Given the description of an element on the screen output the (x, y) to click on. 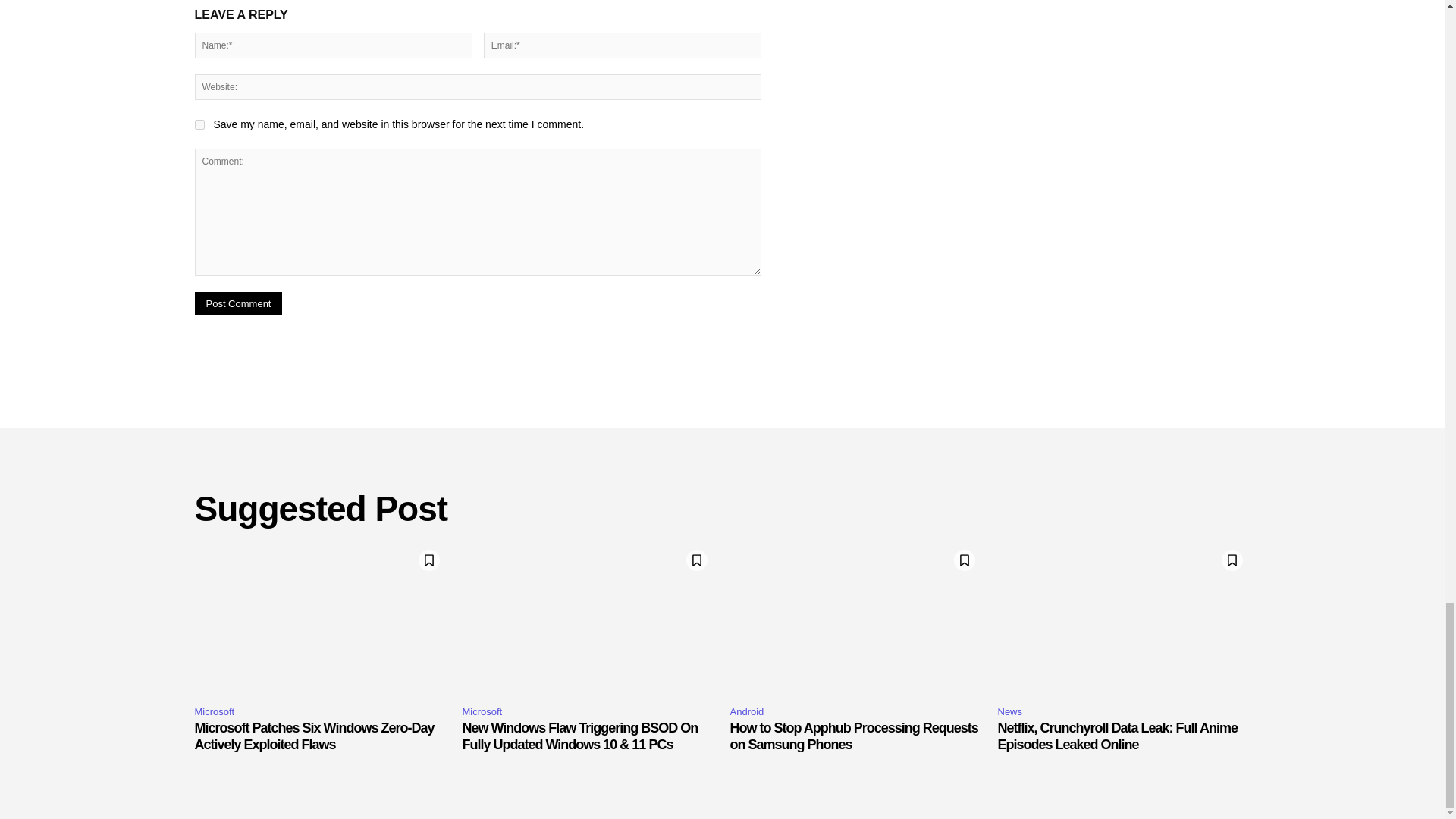
Post Comment (237, 303)
yes (198, 124)
Post Comment (237, 303)
